Given the description of an element on the screen output the (x, y) to click on. 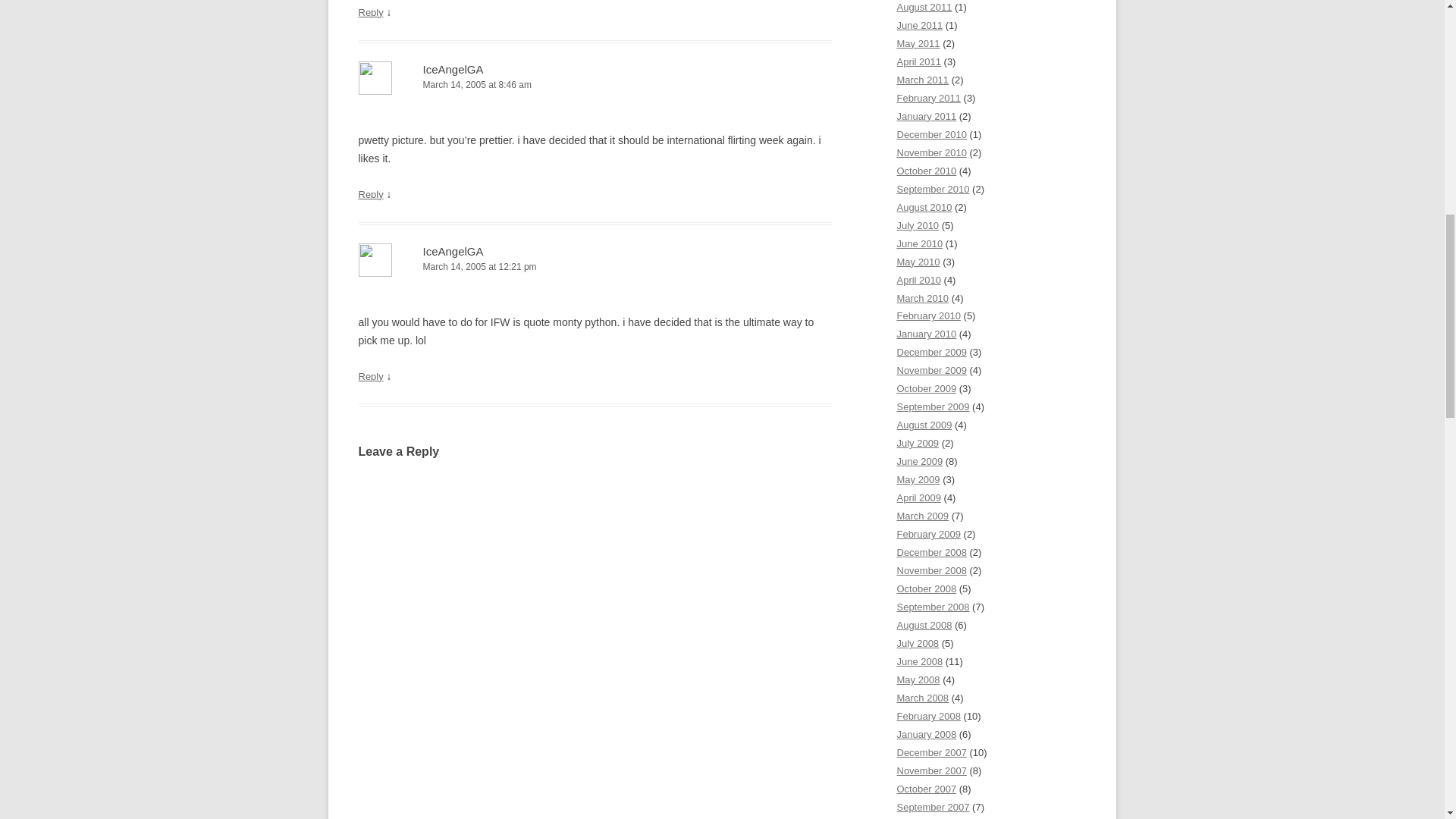
Reply (370, 12)
Reply (370, 194)
Reply (370, 375)
March 14, 2005 at 12:21 pm (594, 267)
IceAngelGA (453, 69)
IceAngelGA (453, 250)
March 14, 2005 at 8:46 am (594, 84)
